Given the description of an element on the screen output the (x, y) to click on. 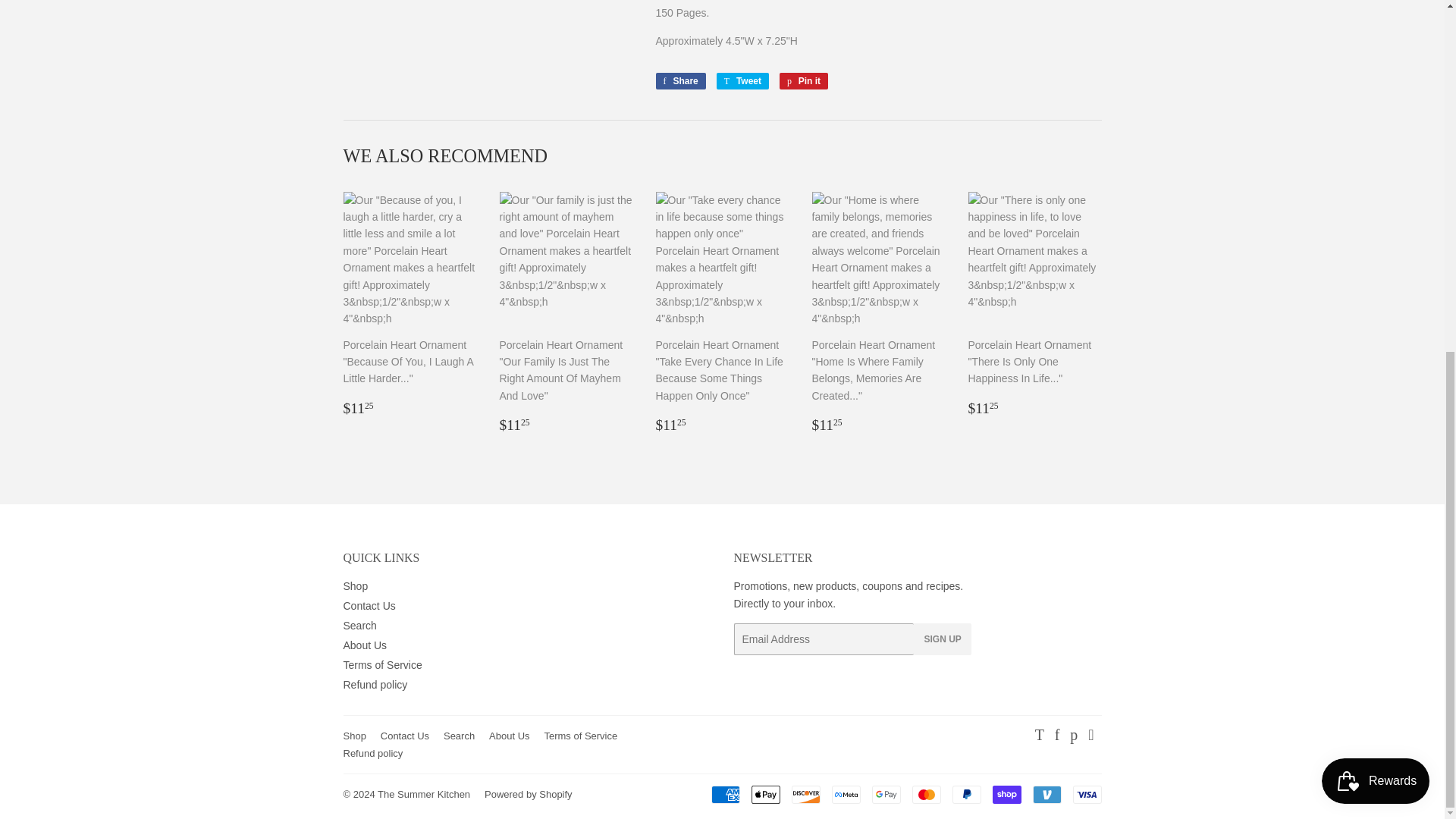
Visa (1085, 794)
Venmo (1046, 794)
Meta Pay (845, 794)
Shop Pay (1005, 794)
Discover (806, 794)
American Express (725, 794)
PayPal (966, 794)
Smile.io Rewards Program Launcher (1375, 169)
Google Pay (886, 794)
Share on Facebook (679, 80)
Mastercard (925, 794)
Tweet on Twitter (742, 80)
Apple Pay (764, 794)
Pin on Pinterest (803, 80)
